Given the description of an element on the screen output the (x, y) to click on. 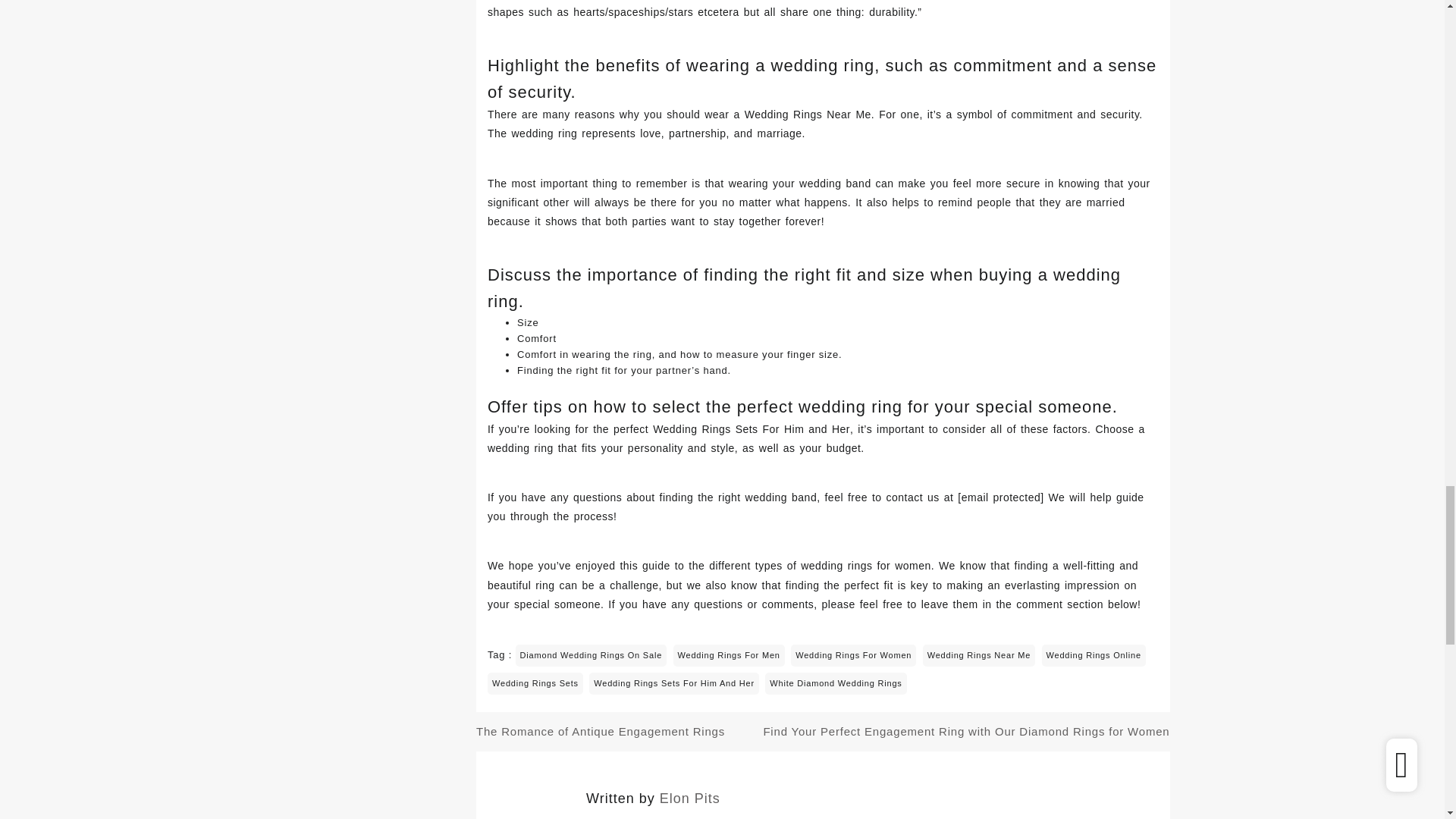
Posts by Elon Pits (689, 798)
